Given the description of an element on the screen output the (x, y) to click on. 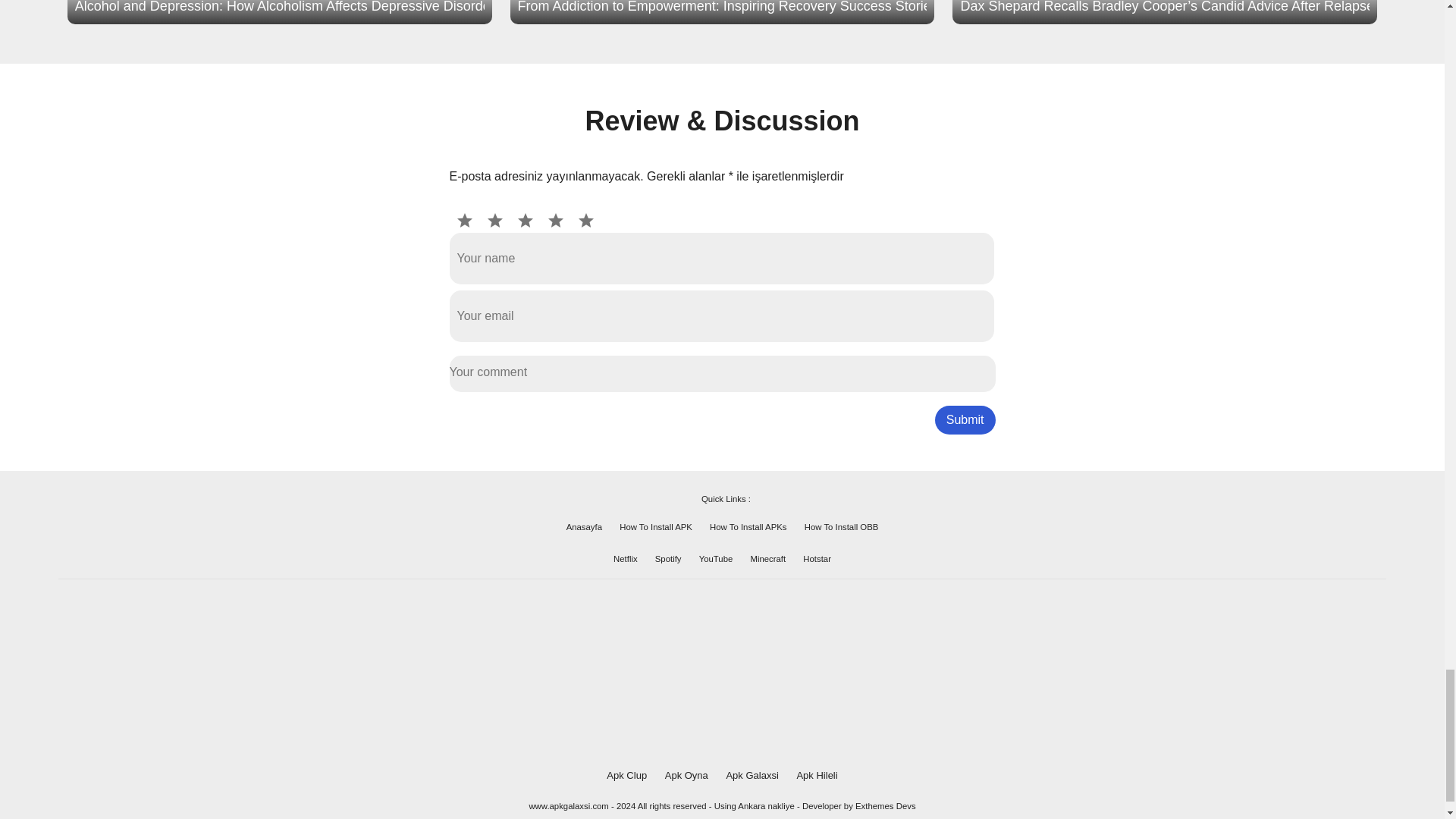
Anasayfa (584, 526)
Submit (964, 419)
Apk Oyna (686, 775)
How To Install APK (656, 526)
premium wordpress themes - exthem.es (885, 805)
Apk Galaxsi (751, 775)
Apk Hileli (816, 775)
Apk Clup (626, 775)
